Given the description of an element on the screen output the (x, y) to click on. 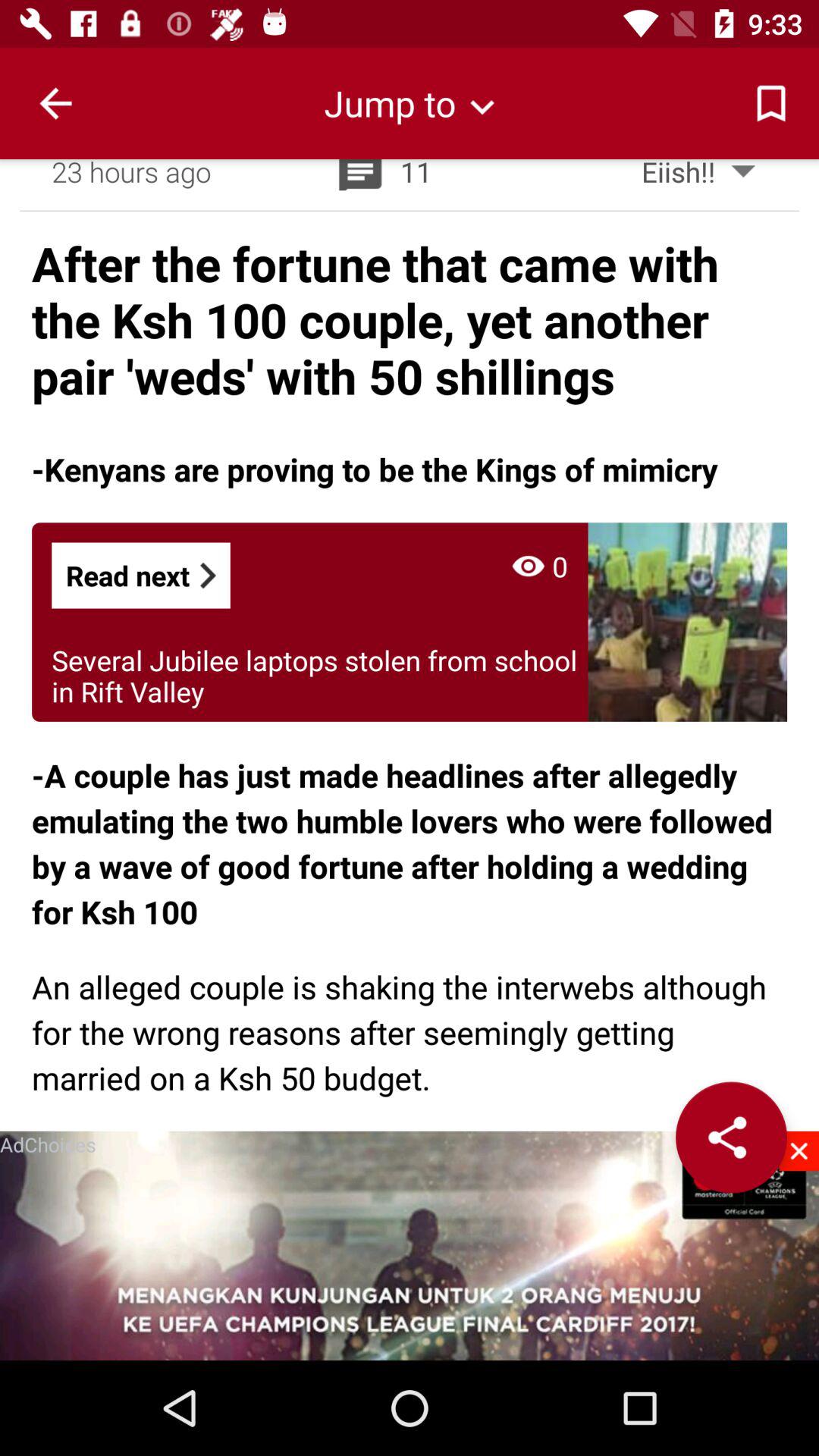
close the advertisement (799, 1151)
